Given the description of an element on the screen output the (x, y) to click on. 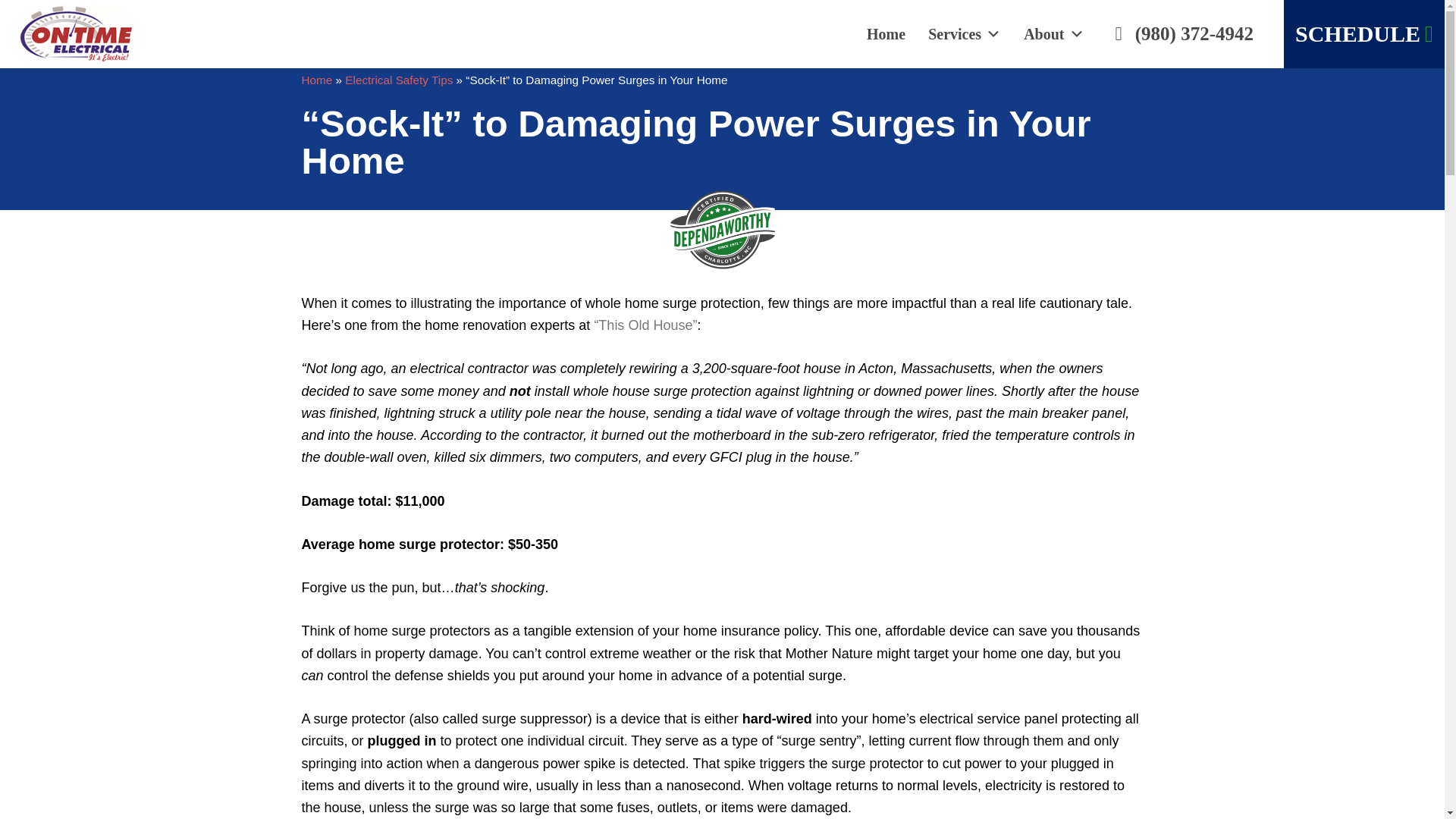
Services (964, 33)
On Time Electrical (94, 33)
About (1052, 33)
Chat Invitation (1315, 762)
Electrical Safety Tips (398, 79)
Home (317, 79)
Home (886, 33)
